Given the description of an element on the screen output the (x, y) to click on. 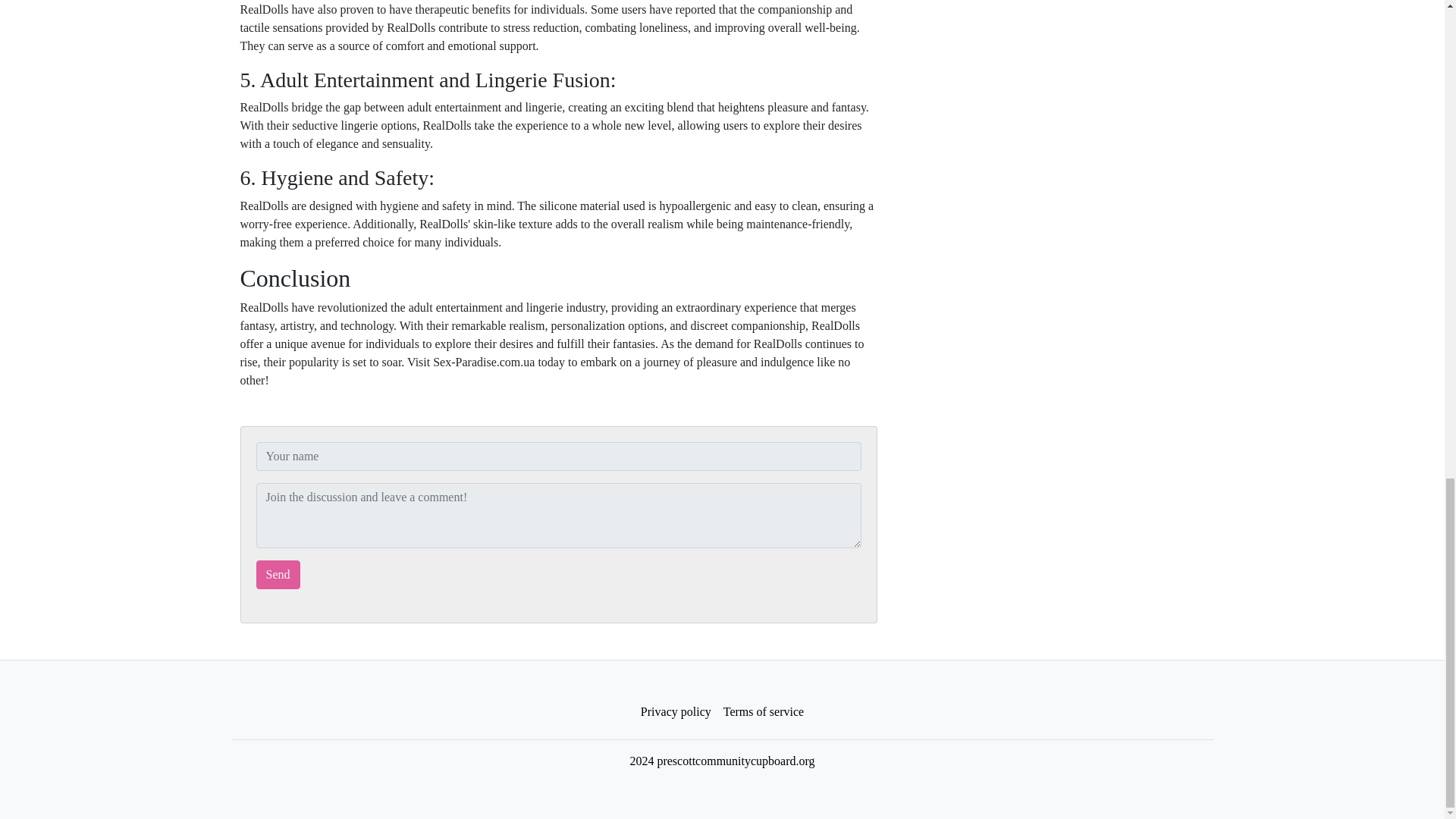
Terms of service (763, 711)
Privacy policy (675, 711)
Send (277, 574)
Send (277, 574)
